Given the description of an element on the screen output the (x, y) to click on. 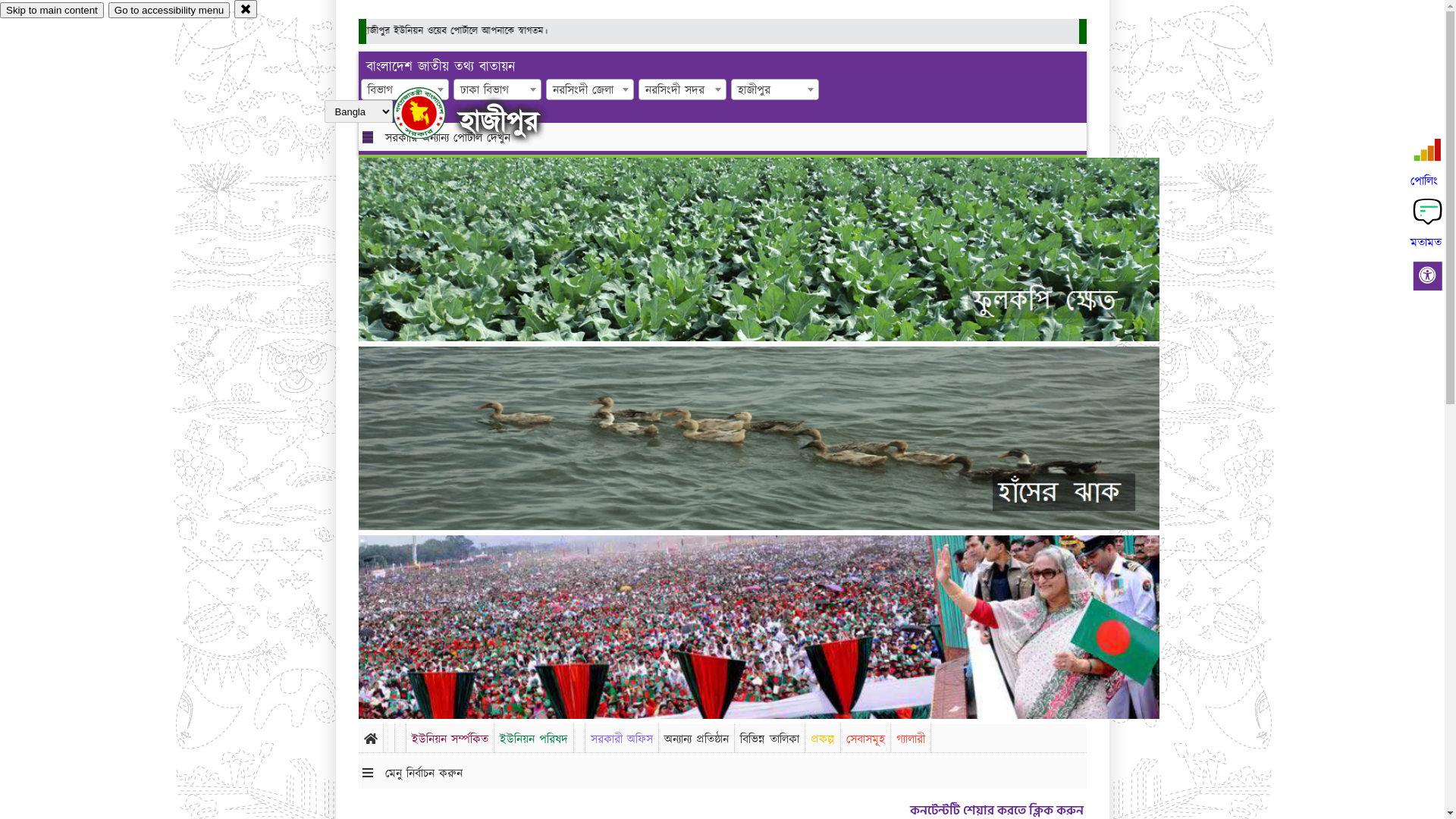
Go to accessibility menu Element type: text (168, 10)

                
             Element type: hover (431, 112)
Skip to main content Element type: text (51, 10)
close Element type: hover (245, 9)
